Given the description of an element on the screen output the (x, y) to click on. 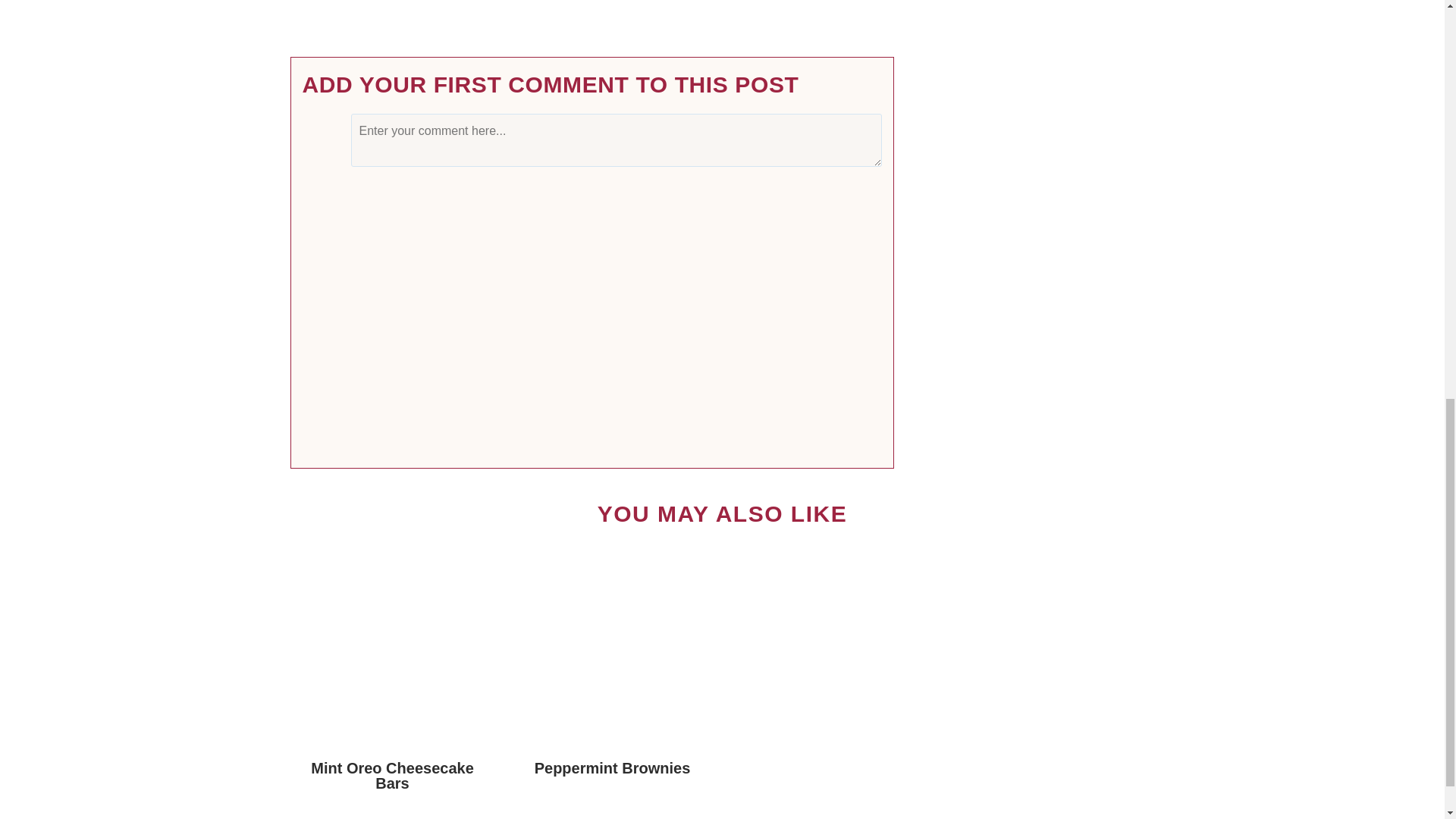
Enter your comment here... (616, 140)
